Given the description of an element on the screen output the (x, y) to click on. 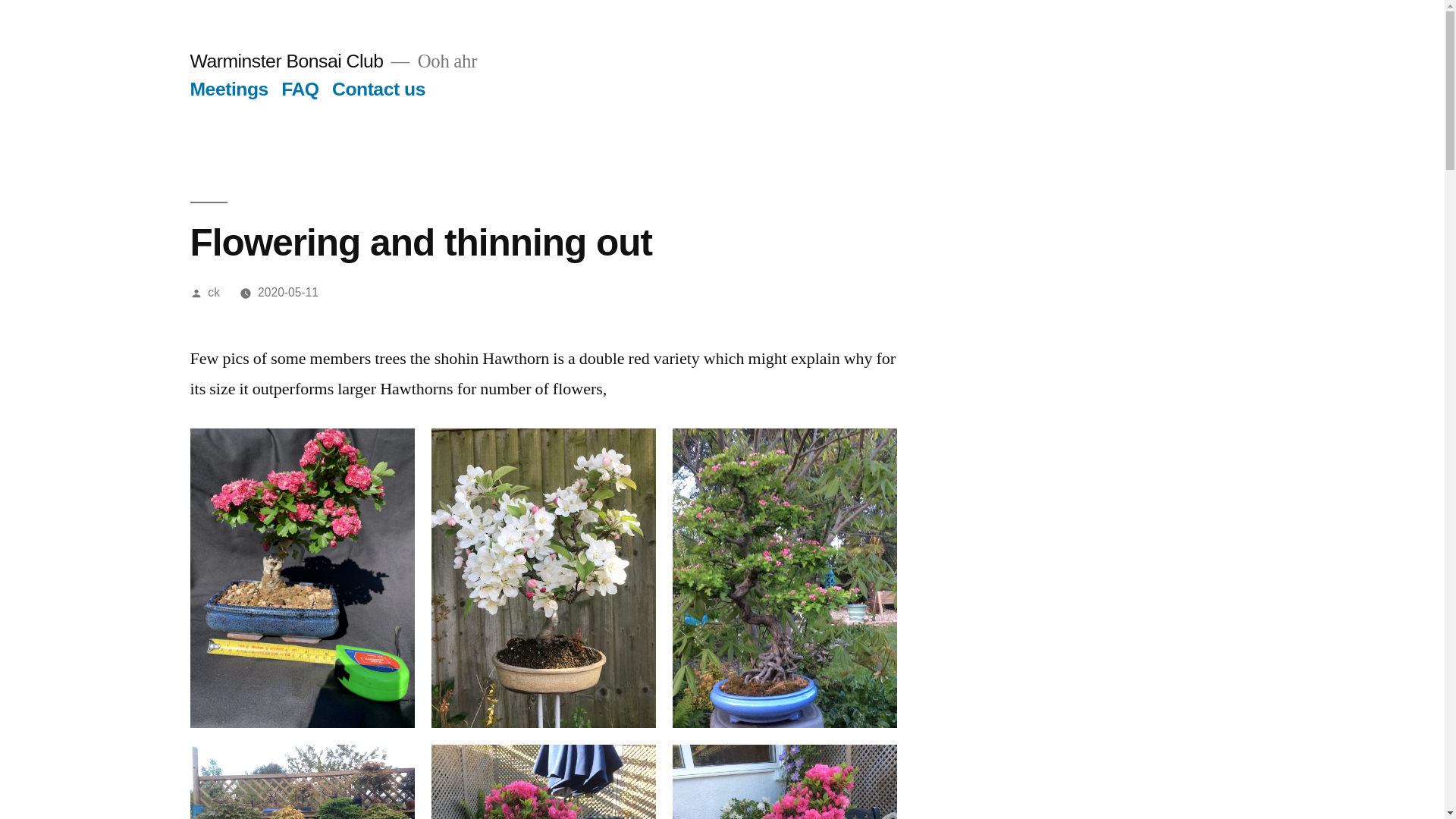
2020-05-11 (287, 291)
Meetings (228, 88)
FAQ (299, 88)
Contact us (378, 88)
Warminster Bonsai Club (285, 60)
ck (213, 291)
